Given the description of an element on the screen output the (x, y) to click on. 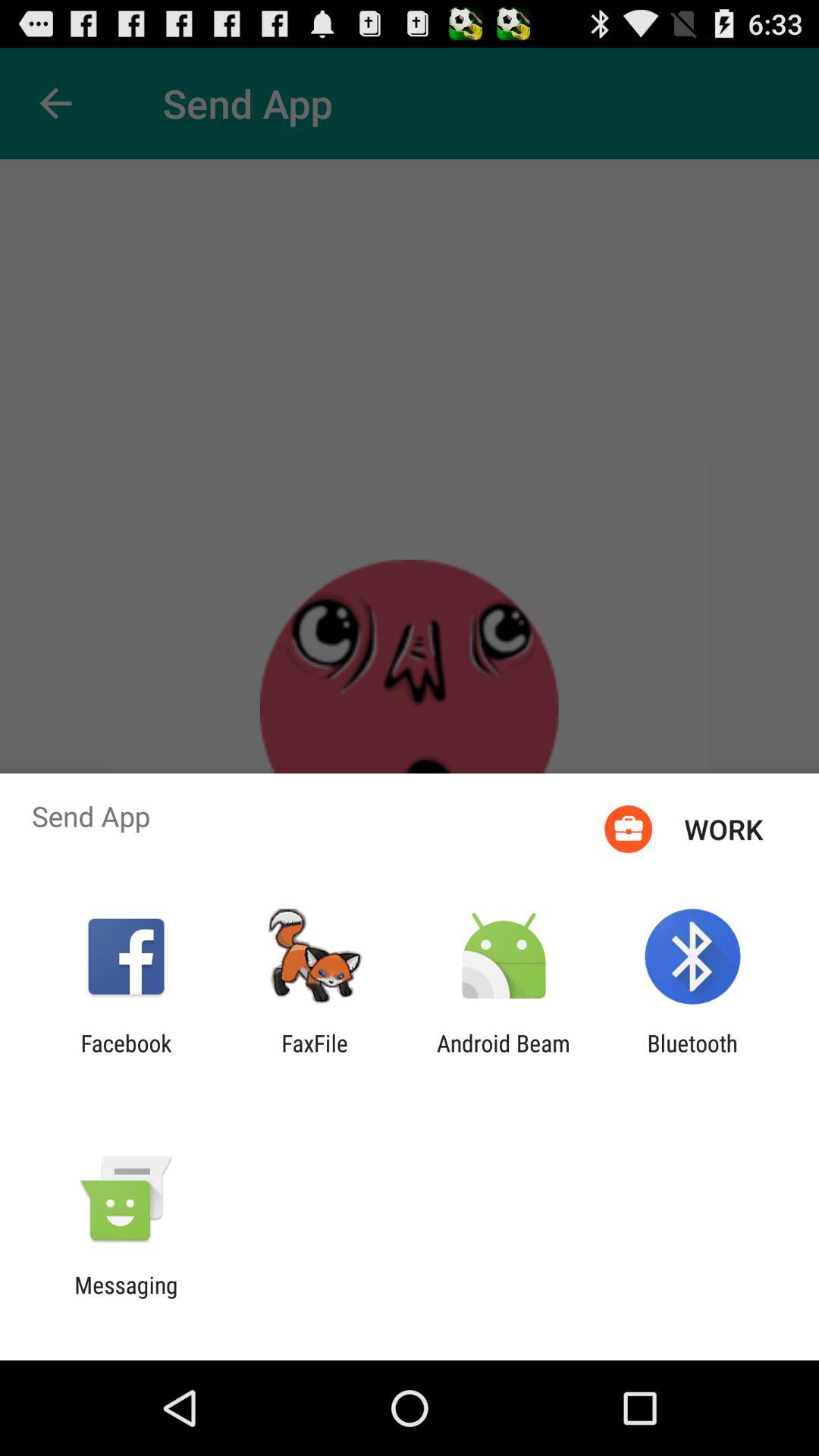
jump until facebook app (125, 1056)
